Given the description of an element on the screen output the (x, y) to click on. 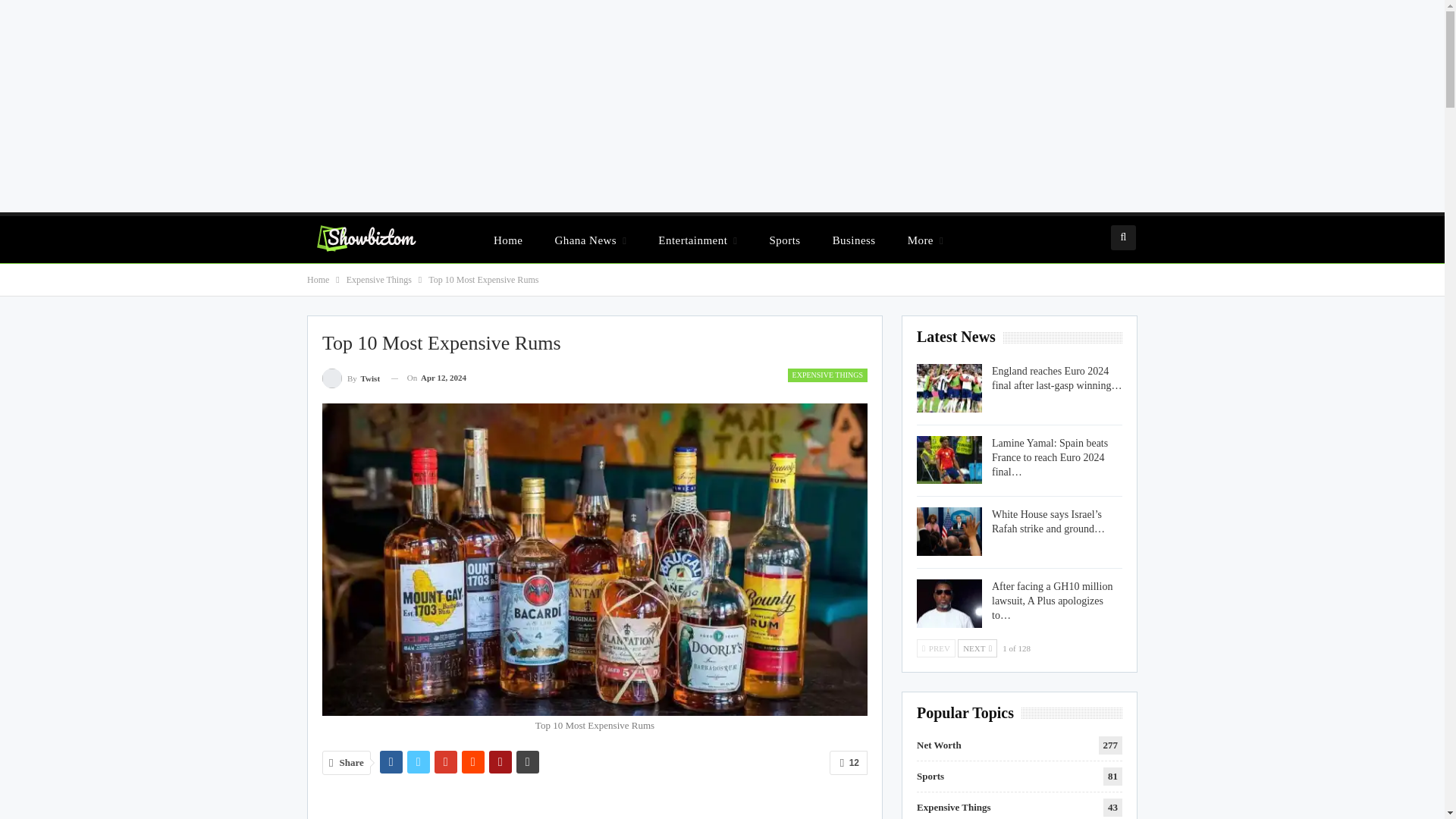
More (925, 239)
Home (318, 279)
Business (854, 239)
Advertisement (594, 804)
Entertainment (697, 239)
Home (508, 239)
By Twist (350, 377)
EXPENSIVE THINGS (827, 375)
Sports (784, 239)
Browse Author Articles (350, 377)
Ghana News (590, 239)
Expensive Things (379, 279)
